Given the description of an element on the screen output the (x, y) to click on. 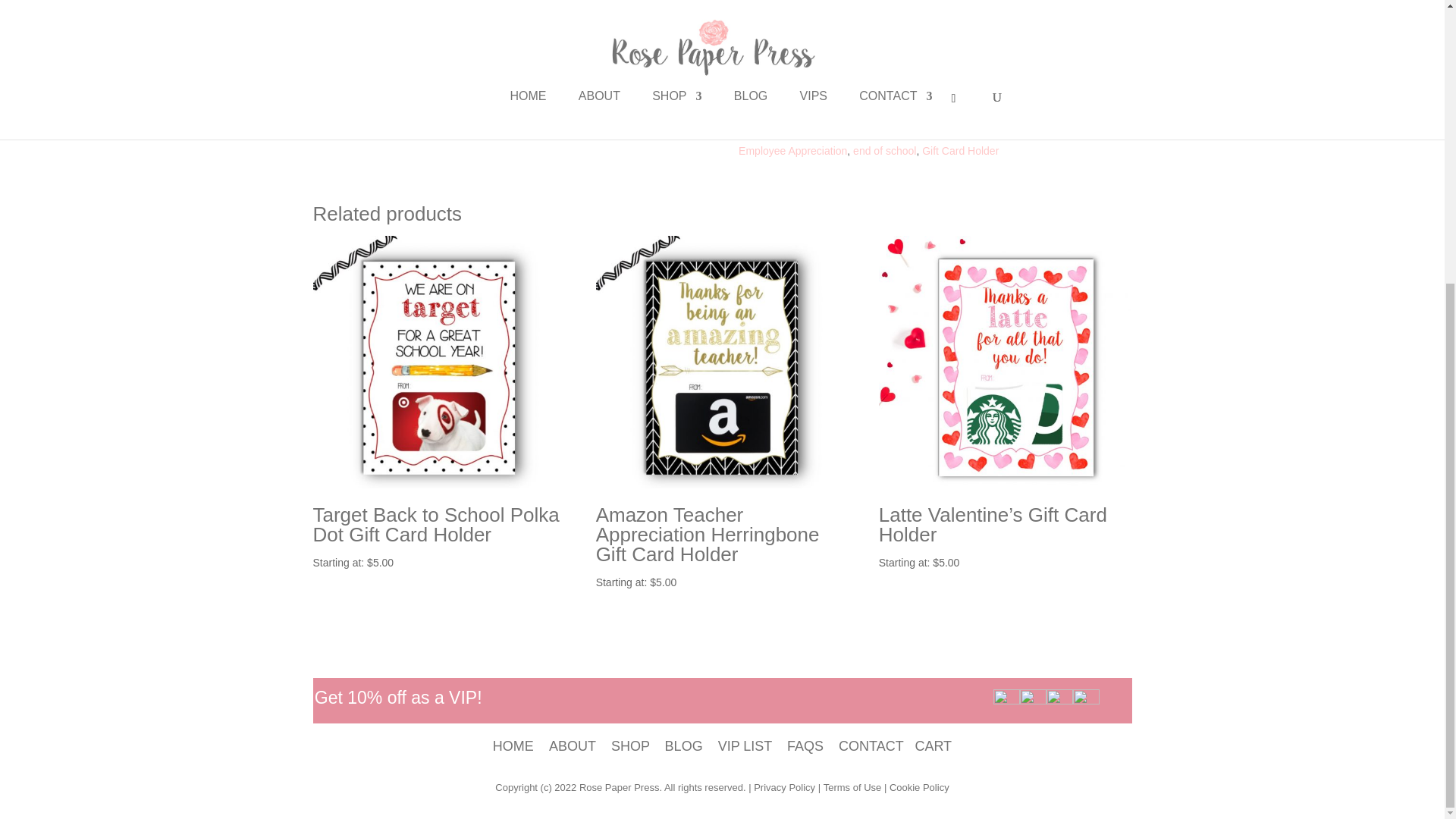
Gift Card Holder (959, 150)
end of school (884, 150)
Employee Appreciation (792, 150)
Add to cart (791, 71)
Back to School (1048, 132)
Christmas Collection (844, 132)
